Given the description of an element on the screen output the (x, y) to click on. 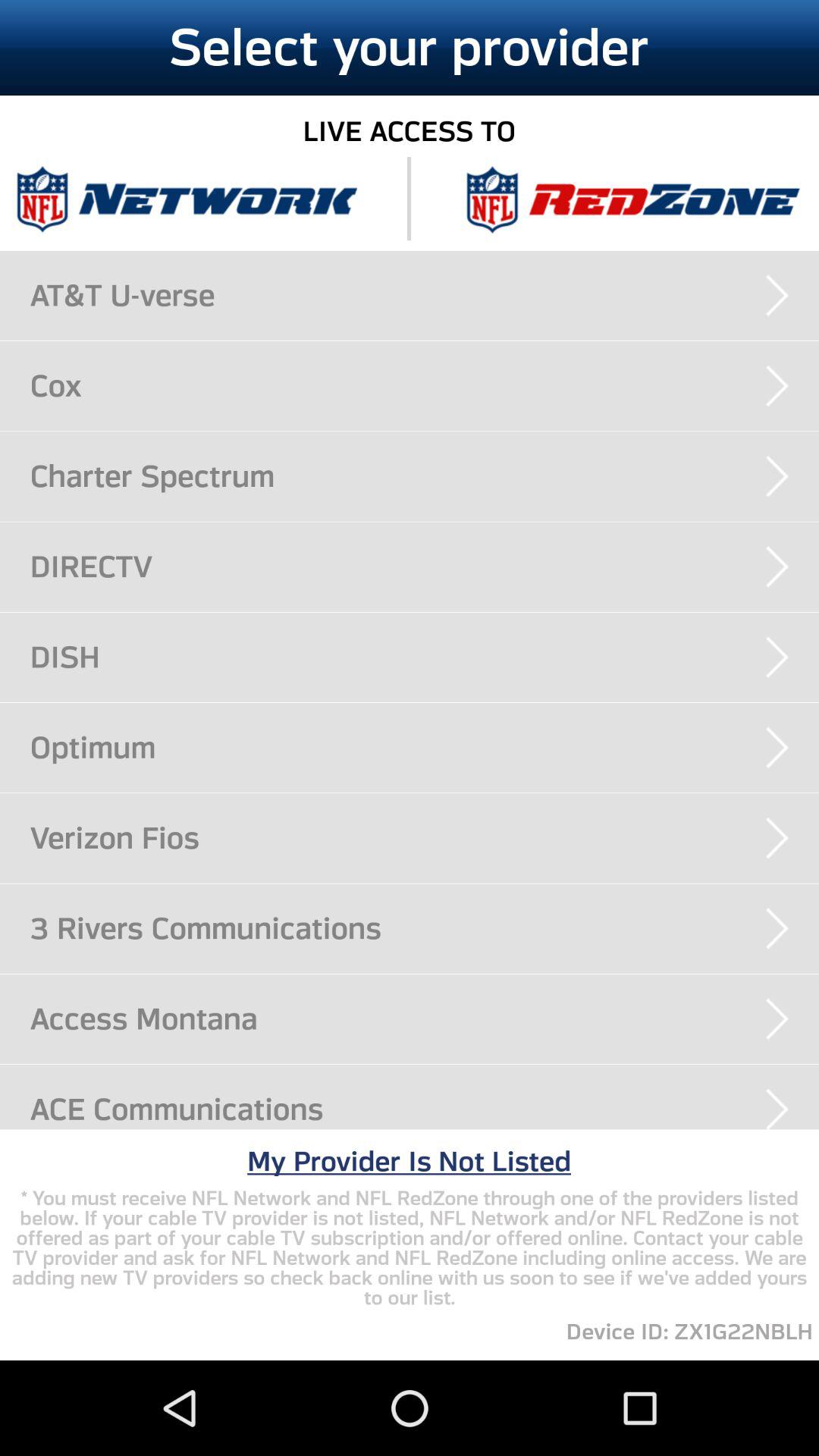
open ace communications app (424, 1109)
